Given the description of an element on the screen output the (x, y) to click on. 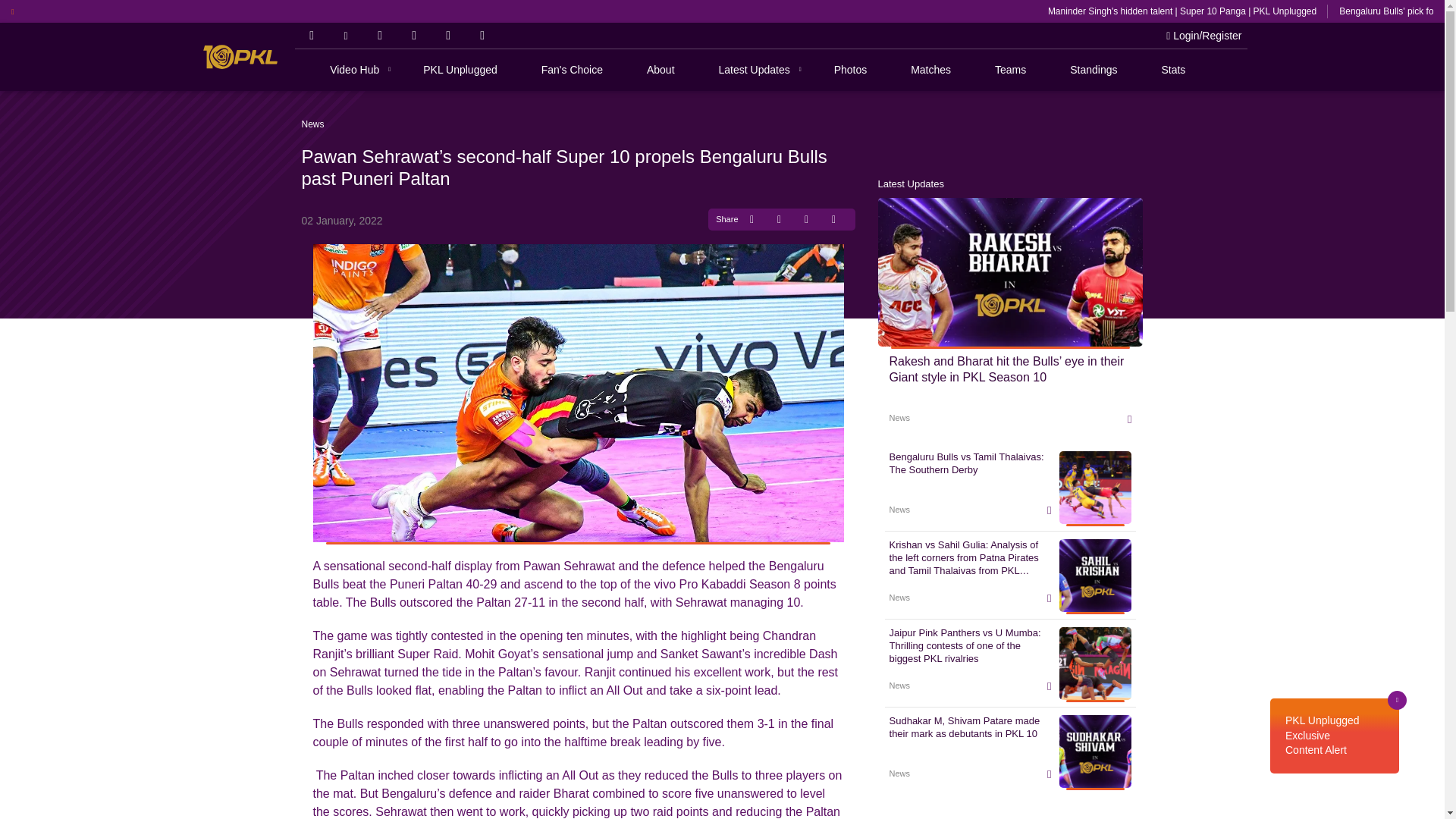
About (660, 69)
Copy Link (833, 219)
Stats (1172, 69)
PKL Unplugged (460, 69)
About (660, 69)
Share on WhatsApp (805, 219)
Share on Twitter (778, 219)
Video Hub (354, 69)
Latest Updates (754, 69)
Fan's Choice (571, 69)
vivo Pro Kabaddi (240, 56)
PKL Unplugged (460, 69)
Standings (1093, 69)
Fan's Choice (571, 69)
Teams (1010, 69)
